Given the description of an element on the screen output the (x, y) to click on. 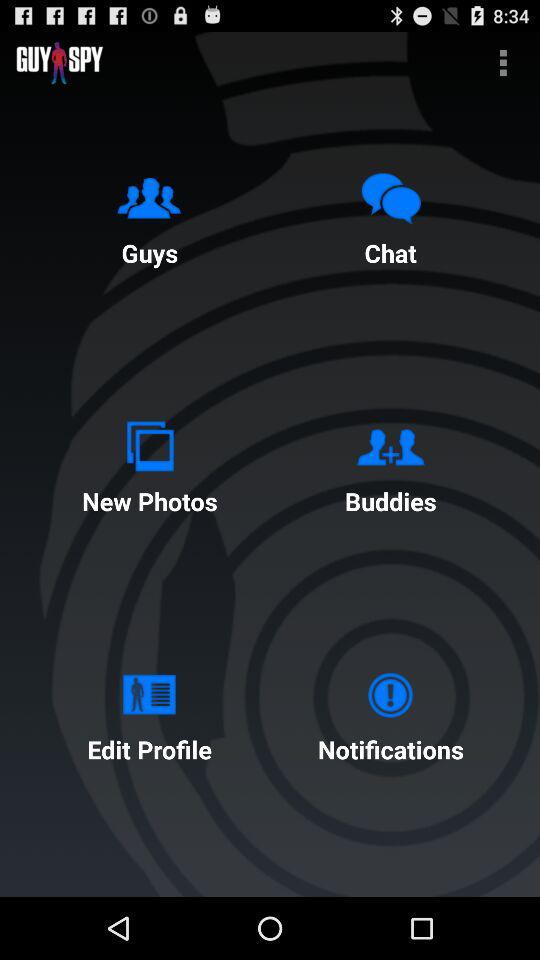
press the edit profile item (149, 712)
